Given the description of an element on the screen output the (x, y) to click on. 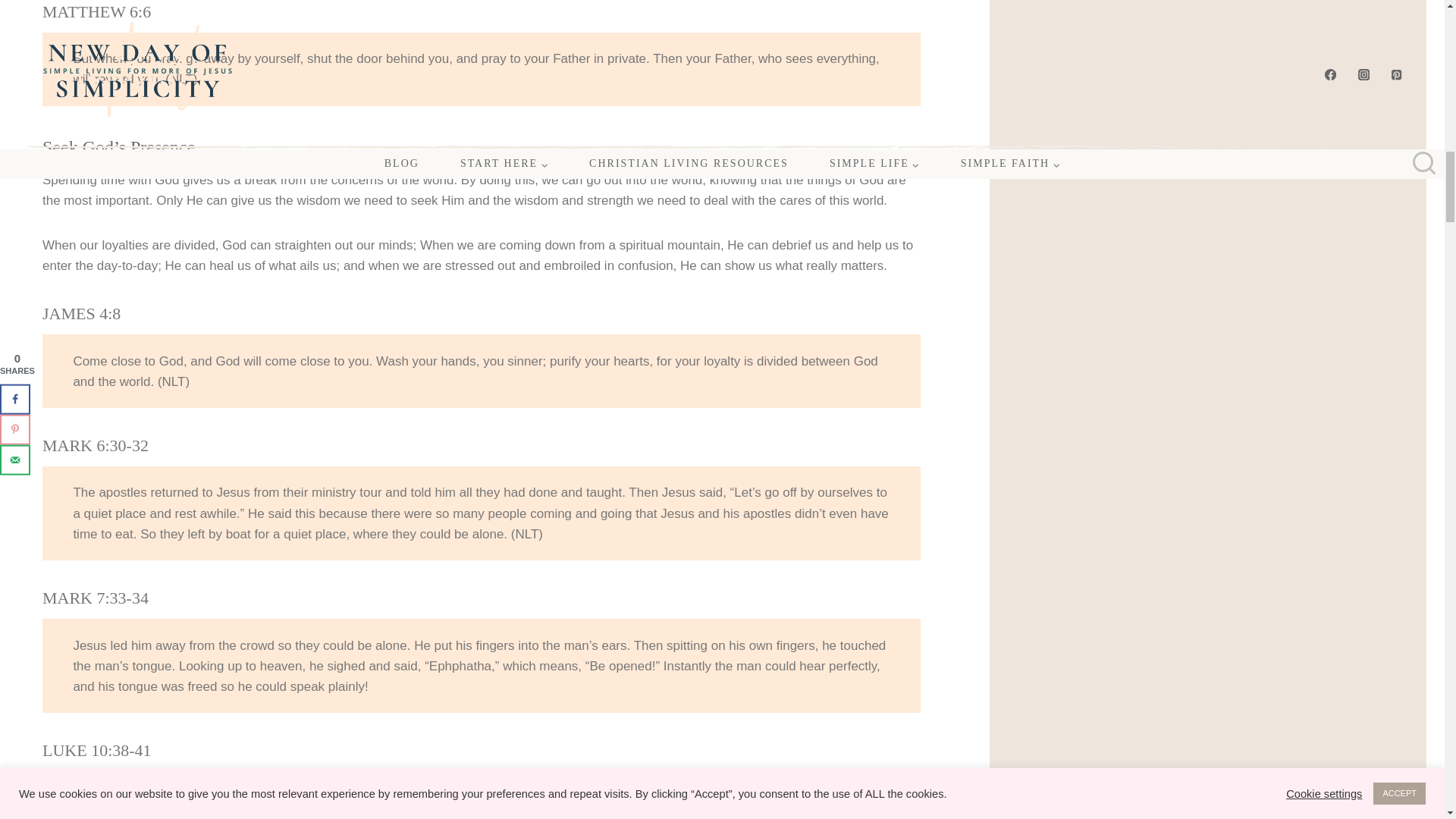
MATTHEW 6:6 (96, 11)
LUKE 10:38-41 (96, 750)
MARK 6:30-32 (95, 445)
MARK 7:33-34 (95, 597)
JAMES 4:8 (81, 312)
